Given the description of an element on the screen output the (x, y) to click on. 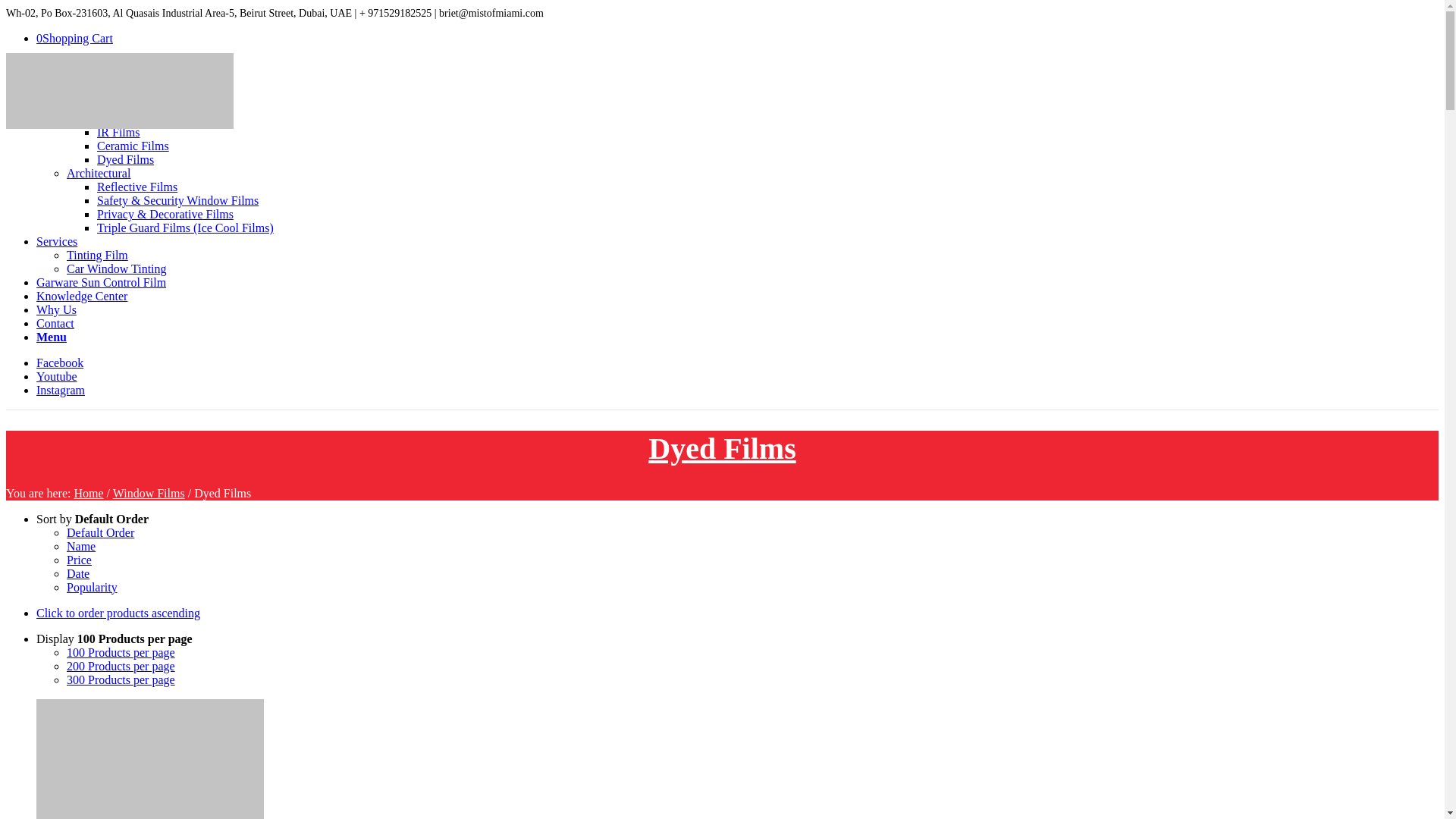
High Perfomance Films (154, 118)
Instagram (60, 390)
Products (57, 91)
Date (77, 573)
Click to order products descending (118, 612)
Facebook (59, 362)
Why Us (56, 309)
Window Films (148, 492)
Knowledge Center (82, 295)
Click to order products ascending (118, 612)
Automotive (94, 104)
Youtube (56, 376)
0Shopping Cart (74, 38)
300 Products per page (120, 679)
Ceramic Films (132, 145)
